Given the description of an element on the screen output the (x, y) to click on. 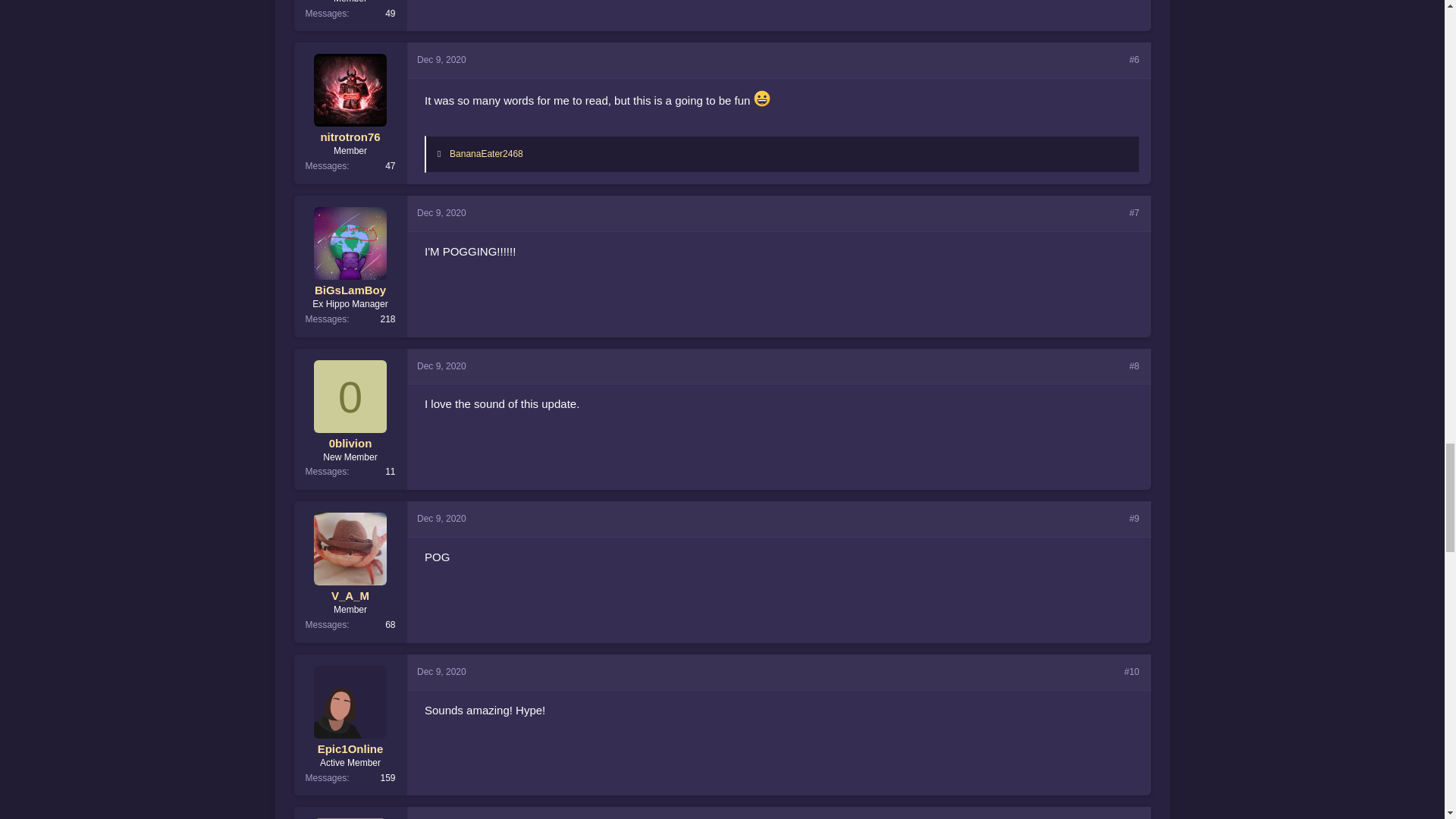
Big Grin    :D (762, 98)
Dec 9, 2020 at 7:51 PM (440, 59)
Likes (442, 153)
